Given the description of an element on the screen output the (x, y) to click on. 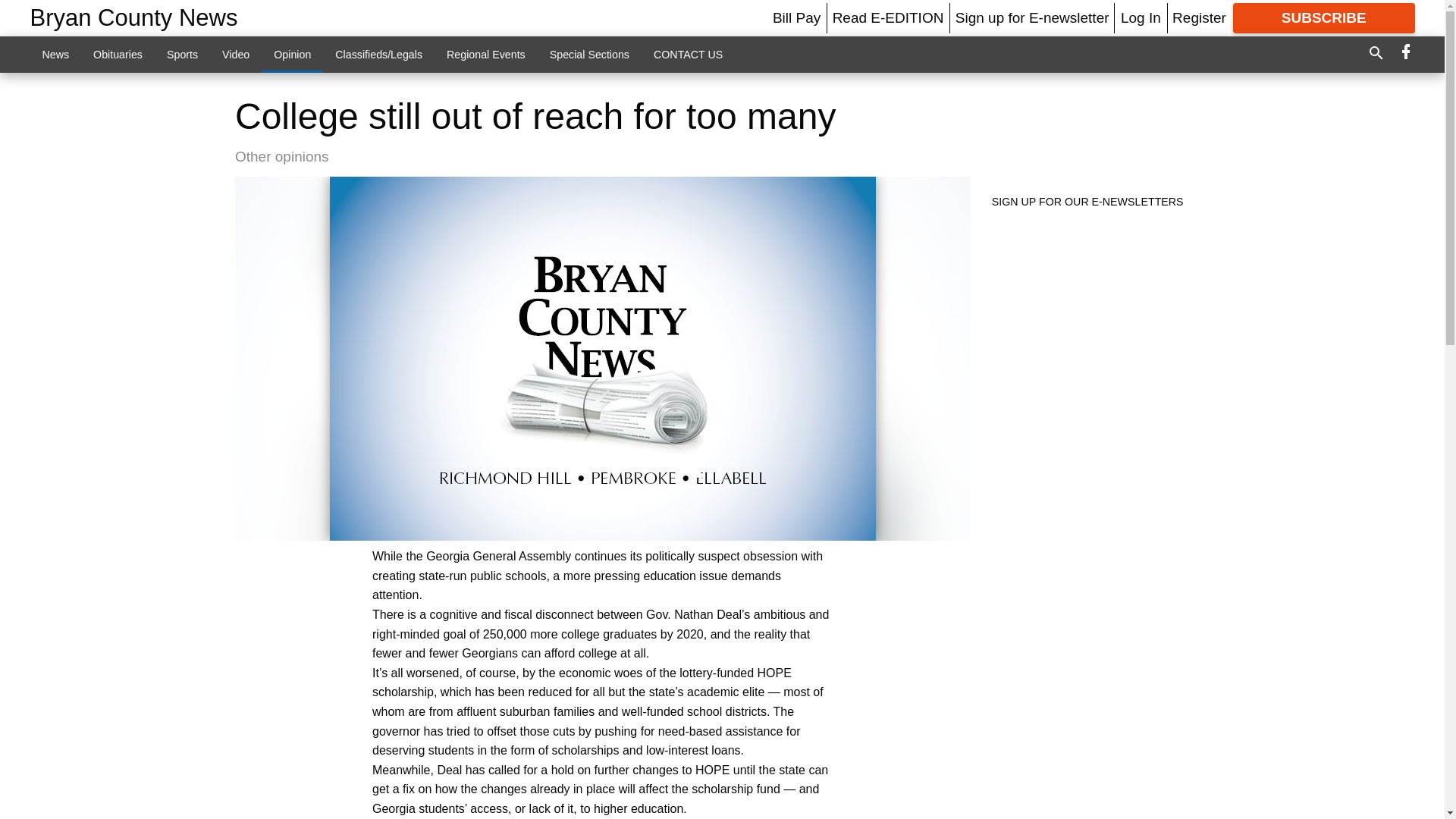
Special Sections (589, 54)
Sign up for E-newsletter (1032, 17)
Video (235, 54)
Register (1198, 17)
Obituaries (117, 54)
Bill Pay (797, 17)
Log In (1140, 17)
CONTACT US (688, 54)
Bryan County News (134, 17)
SUBSCRIBE (1324, 18)
Opinion (292, 54)
Regional Events (485, 54)
Read E-EDITION (887, 17)
Sports (181, 54)
News (55, 54)
